Given the description of an element on the screen output the (x, y) to click on. 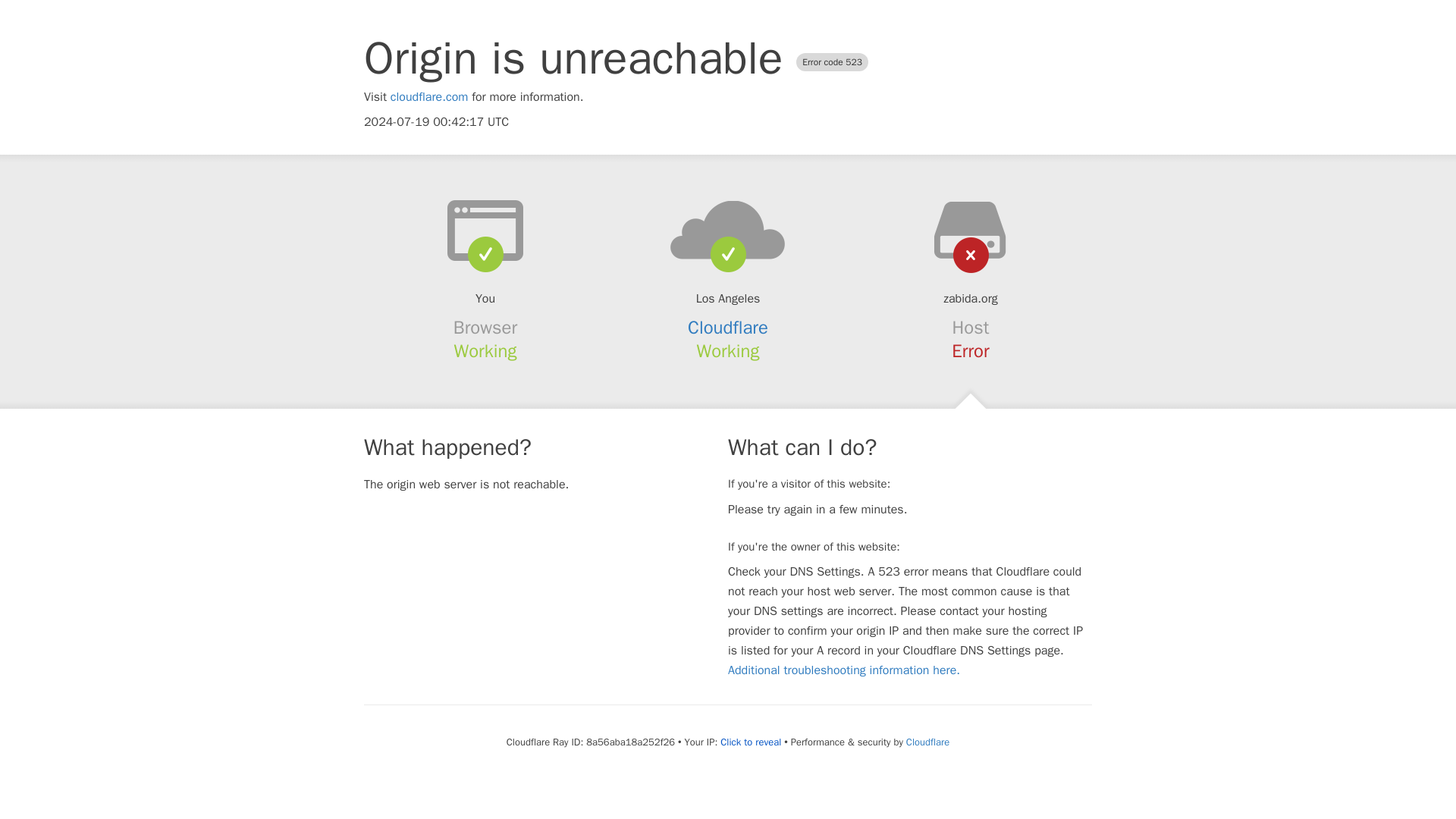
Additional troubleshooting information here. (843, 670)
Click to reveal (750, 742)
Cloudflare (927, 741)
cloudflare.com (429, 96)
Cloudflare (727, 327)
